Given the description of an element on the screen output the (x, y) to click on. 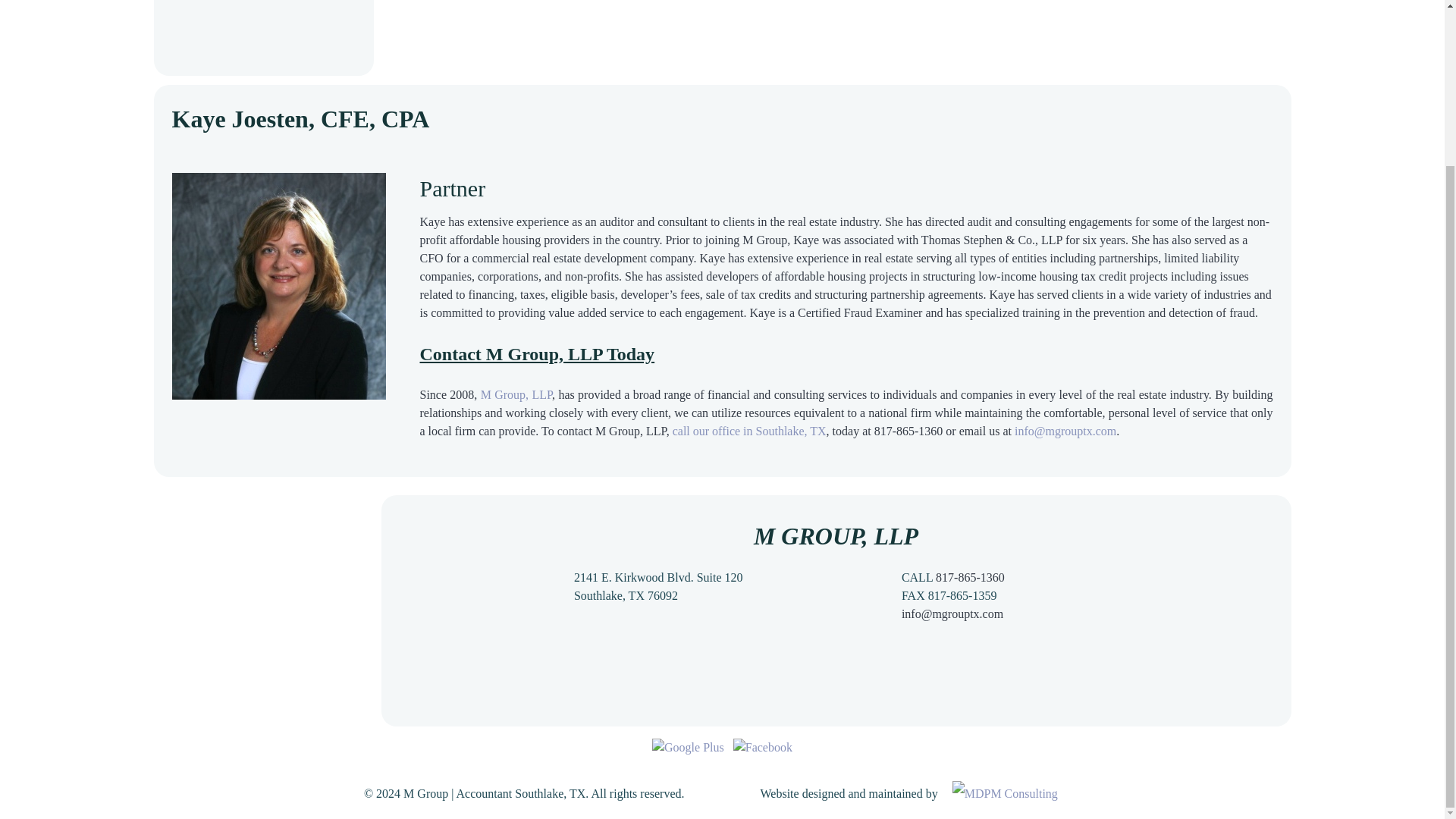
M Group, LLP (515, 394)
call our office in Southlake, TX (749, 431)
817-865-1360 (970, 576)
